Given the description of an element on the screen output the (x, y) to click on. 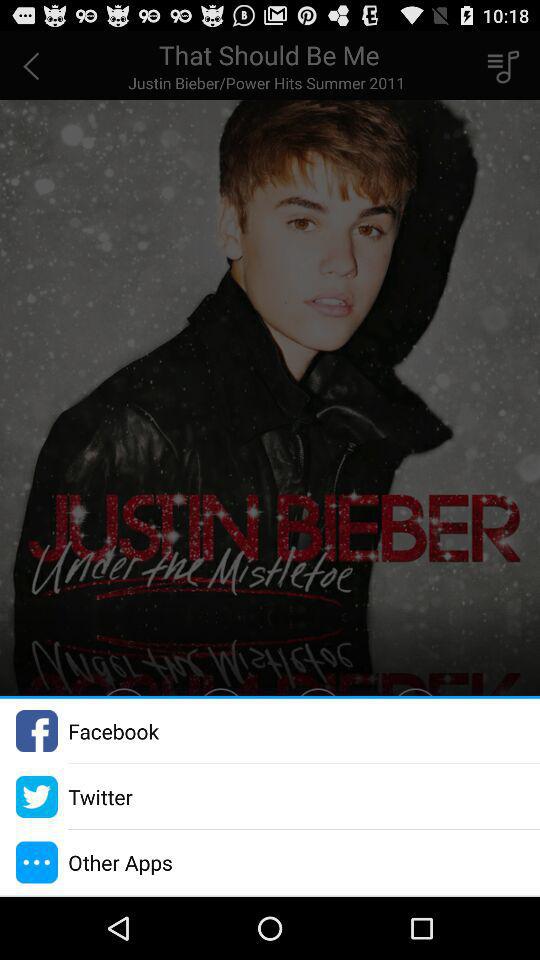
press the other apps (120, 862)
